Given the description of an element on the screen output the (x, y) to click on. 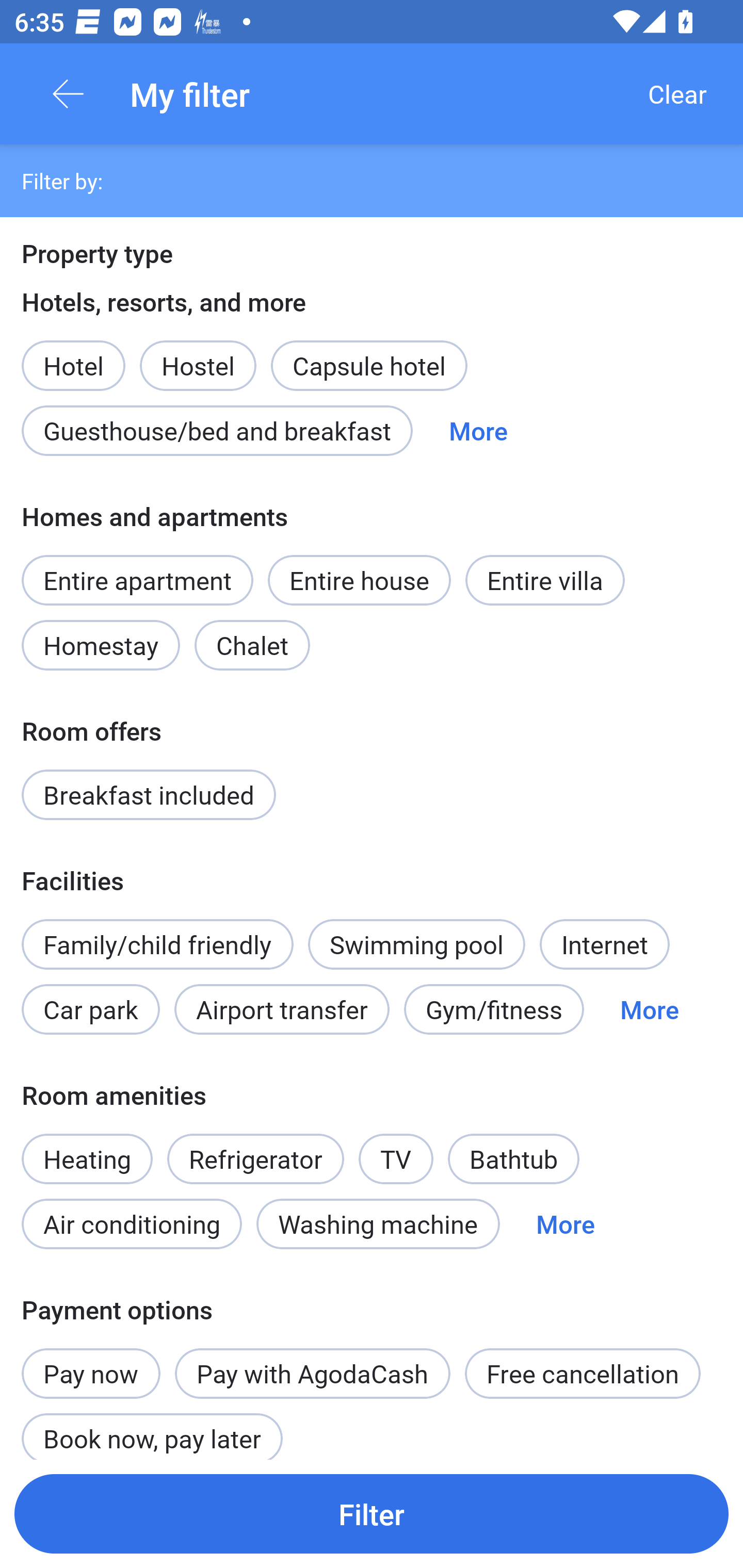
Clear (676, 93)
Hotel (73, 355)
Hostel (197, 355)
Capsule hotel (369, 366)
Guesthouse/bed and breakfast (217, 430)
More (478, 430)
Entire apartment (137, 580)
Entire house (359, 580)
Entire villa (544, 580)
Homestay (100, 645)
Chalet (251, 645)
Breakfast included (148, 794)
Family/child friendly (157, 944)
Swimming pool (416, 944)
Internet (604, 944)
Car park (90, 1008)
Airport transfer (281, 1008)
Gym/fitness (493, 1008)
More (649, 1008)
Heating (87, 1148)
Refrigerator (255, 1159)
TV (395, 1148)
Bathtub (513, 1159)
Air conditioning (131, 1223)
Washing machine (378, 1223)
More (565, 1223)
Pay now (90, 1362)
Pay with AgodaCash (312, 1373)
Free cancellation (582, 1373)
Book now, pay later (152, 1427)
Filter (371, 1513)
